Given the description of an element on the screen output the (x, y) to click on. 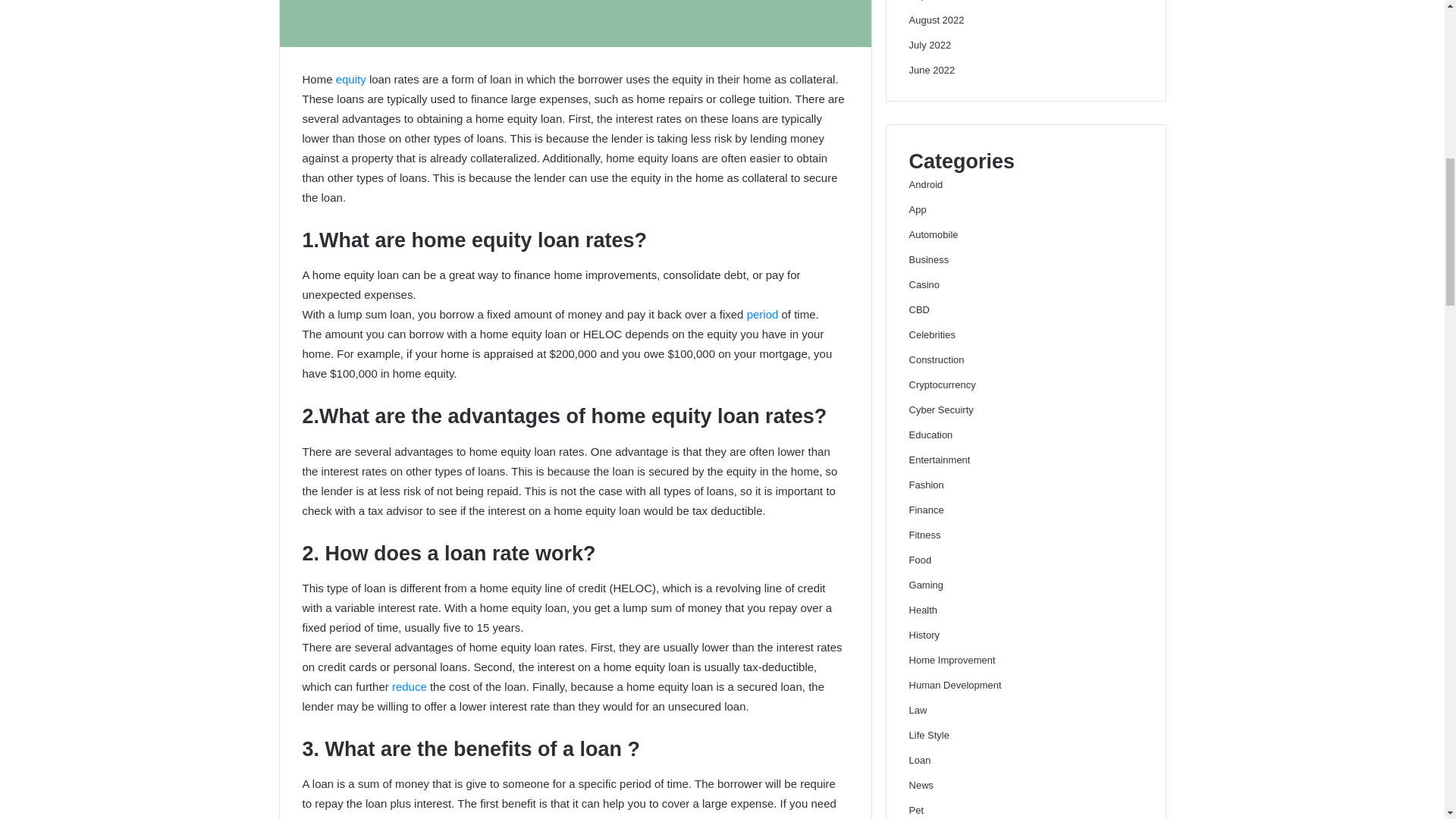
equity (352, 78)
reduce (410, 686)
period (763, 314)
